Given the description of an element on the screen output the (x, y) to click on. 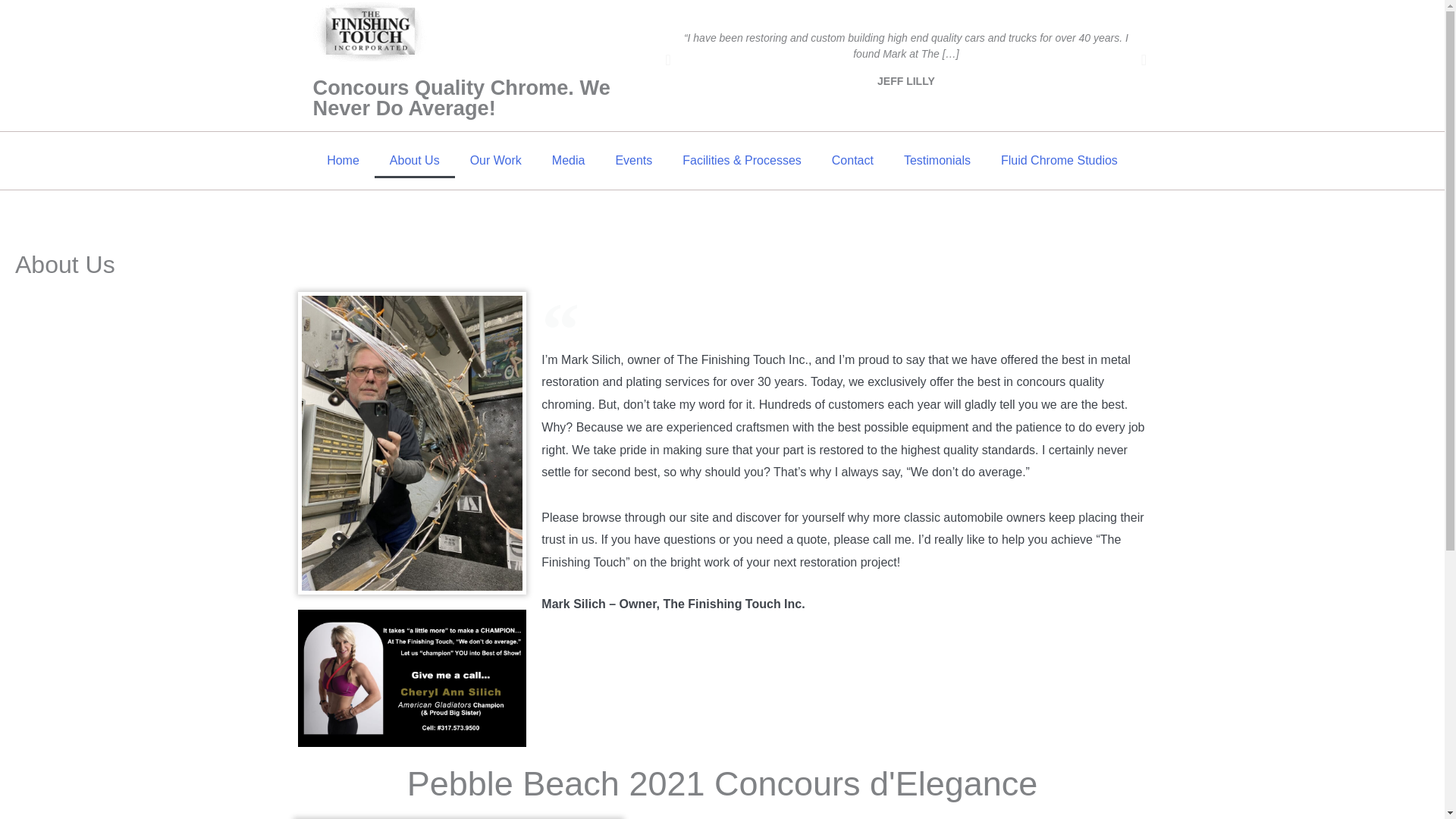
Testimonials (936, 160)
Media (568, 160)
Fluid Chrome Studios (1058, 160)
Contact (852, 160)
Home (342, 160)
Our Work (495, 160)
Events (632, 160)
About Us (414, 160)
